Given the description of an element on the screen output the (x, y) to click on. 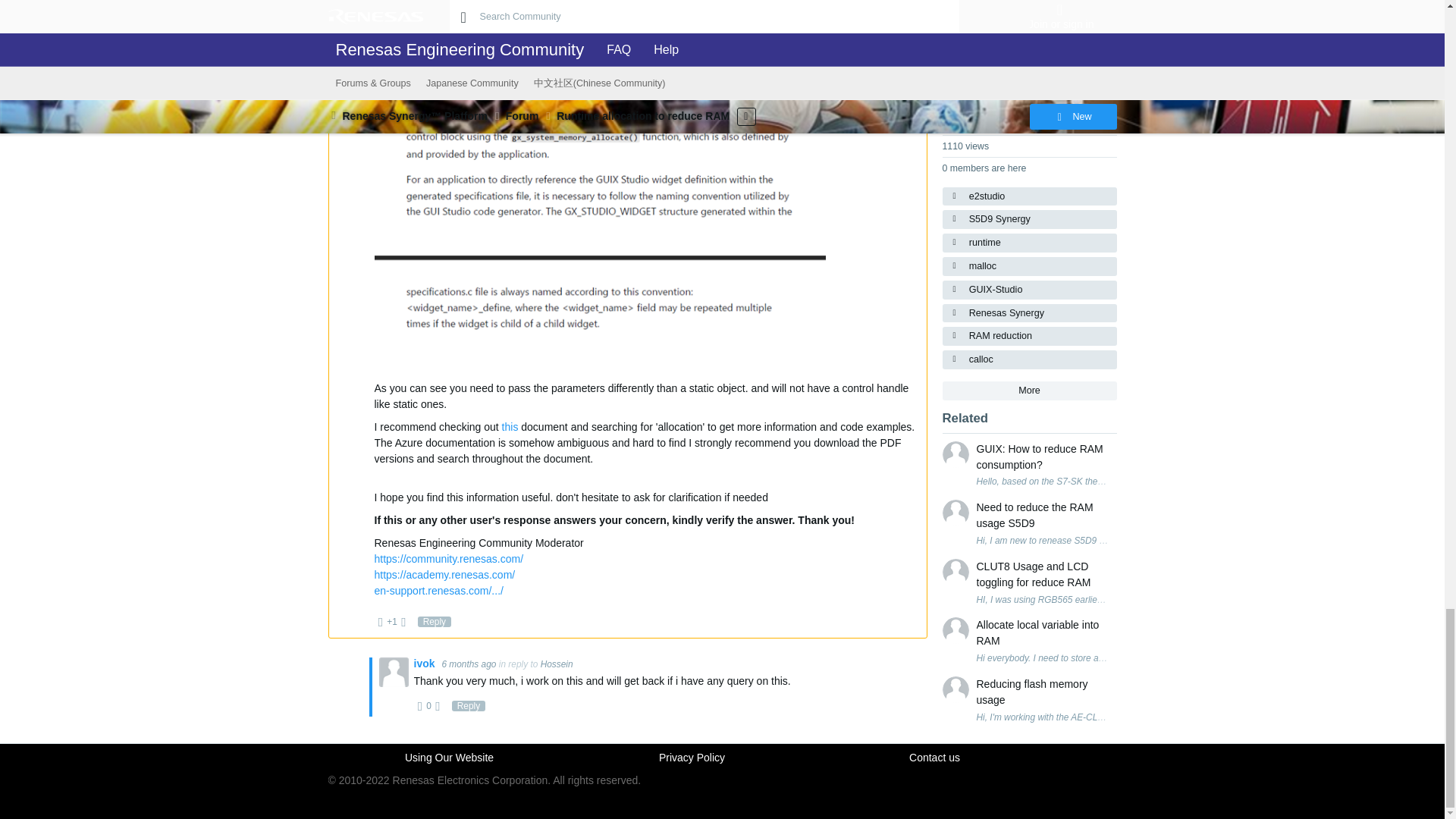
malloc (1029, 266)
More (1029, 390)
RAM reduction (1029, 335)
S5D9 Synergy (1029, 219)
Renesas Synergy (1029, 312)
Need to reduce the RAM usage S5D9 (1042, 515)
GUIX: How to reduce RAM consumption? (1042, 457)
runtime (1029, 242)
Suggested Answer (1011, 53)
calloc (1029, 359)
